Given the description of an element on the screen output the (x, y) to click on. 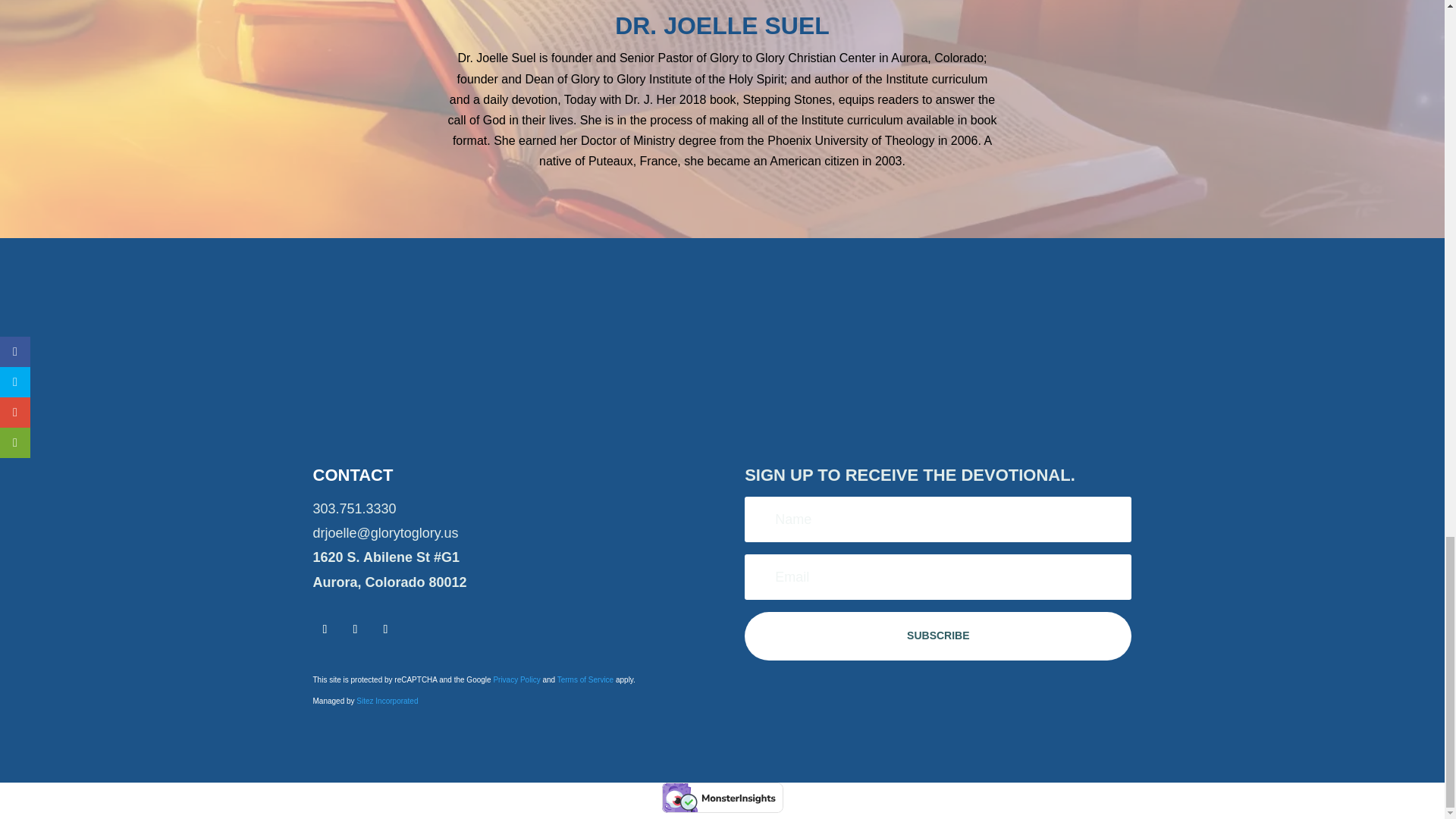
Follow on X (354, 629)
Sitez Incorporated - Quality work at a reasonable price (386, 700)
Follow on Facebook (324, 629)
Privacy Policy (516, 679)
Follow on Instagram (384, 629)
Verified by MonsterInsights (722, 797)
